Given the description of an element on the screen output the (x, y) to click on. 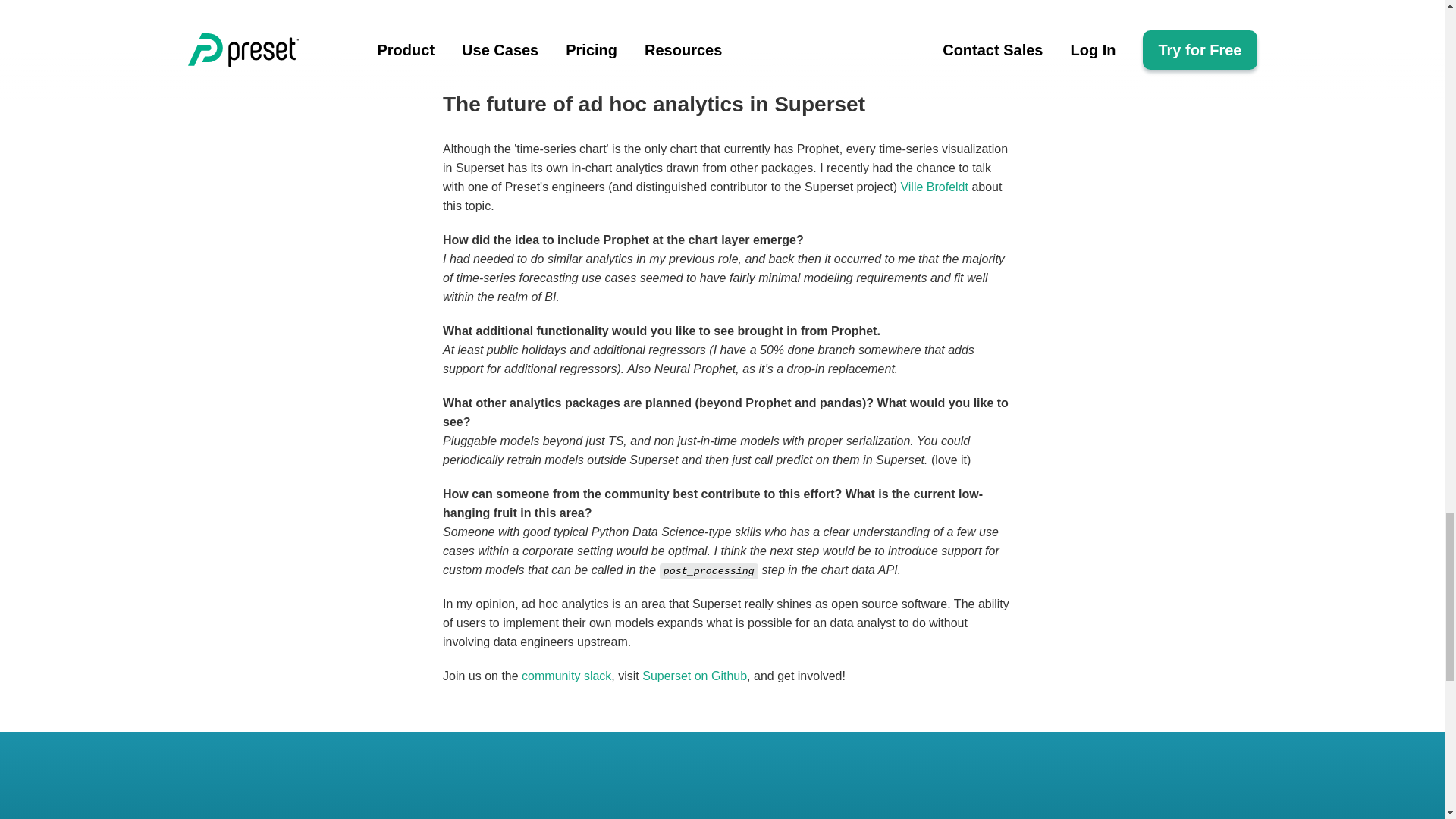
community slack (566, 675)
Ville Brofeldt (933, 186)
Superset on Github (694, 675)
